Given the description of an element on the screen output the (x, y) to click on. 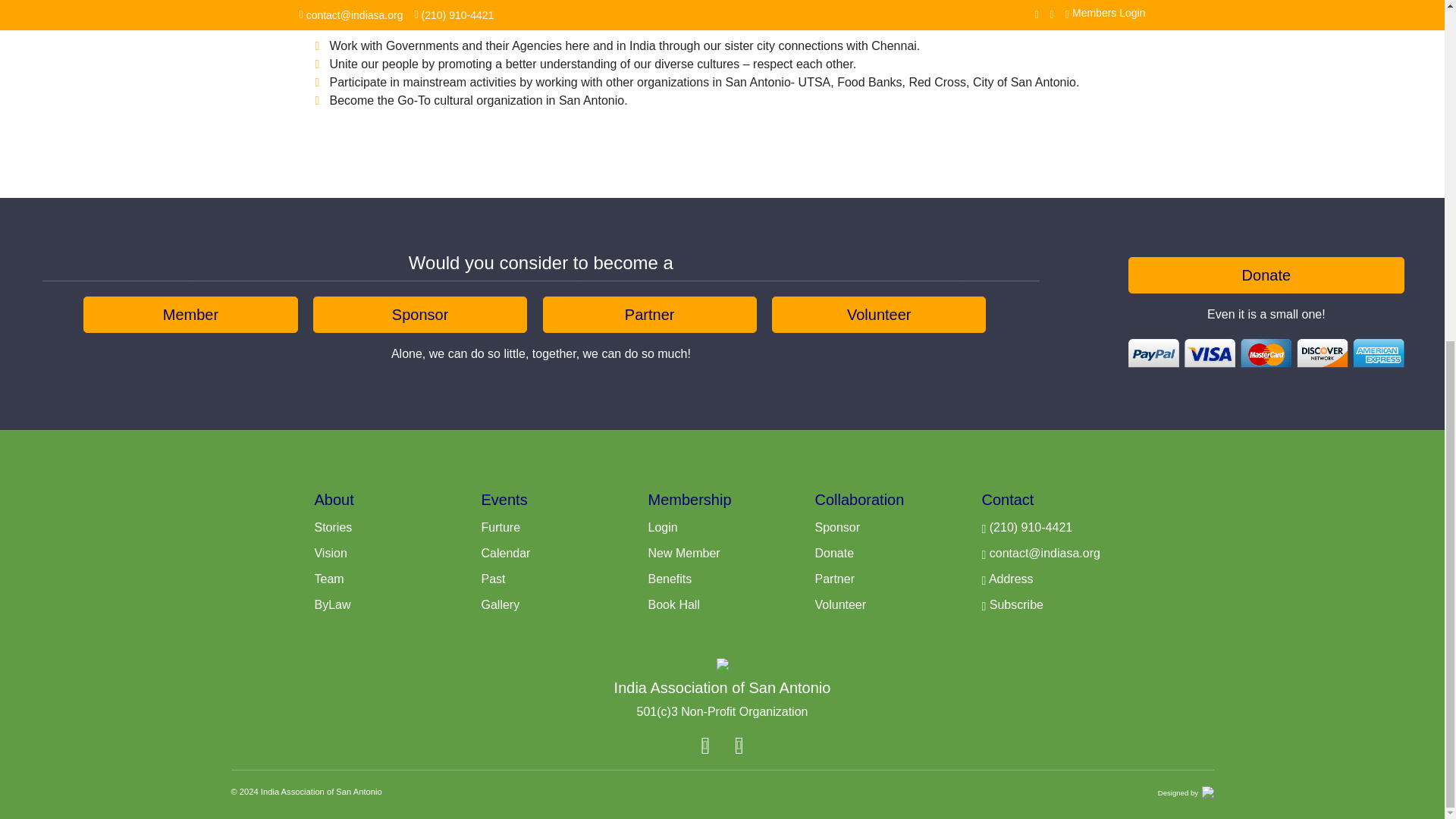
Dee Creations (1206, 790)
